Given the description of an element on the screen output the (x, y) to click on. 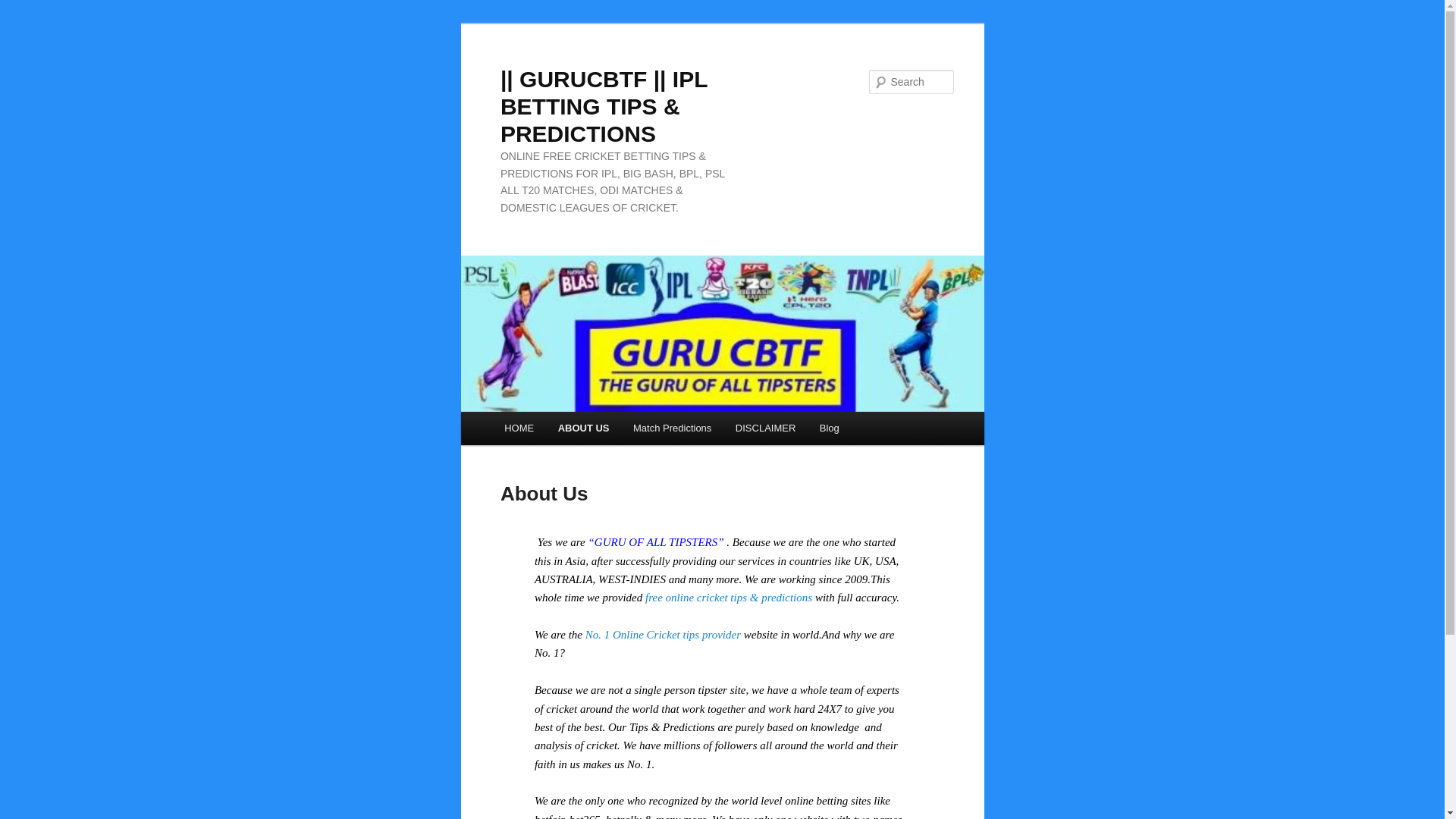
Match Predictions (672, 427)
Search (24, 8)
ABOUT US (583, 427)
Blog (829, 427)
No. 1 Online Cricket tips provider (663, 634)
HOME (519, 427)
DISCLAIMER (765, 427)
